Given the description of an element on the screen output the (x, y) to click on. 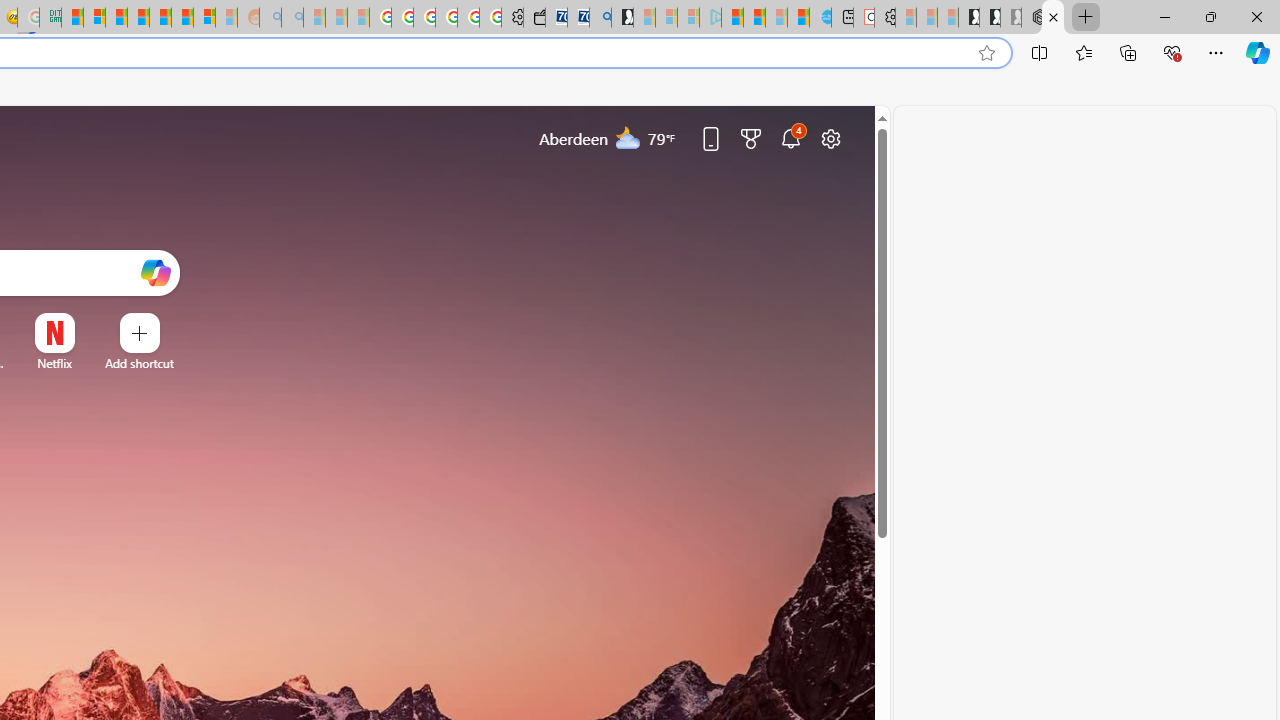
Bing Real Estate - Home sales and rental listings (600, 17)
Student Loan Update: Forgiveness Program Ends This Month (138, 17)
Notifications (790, 138)
MSNBC - MSN (72, 17)
DITOGAMES AG Imprint (50, 17)
Add a site (139, 363)
